Given the description of an element on the screen output the (x, y) to click on. 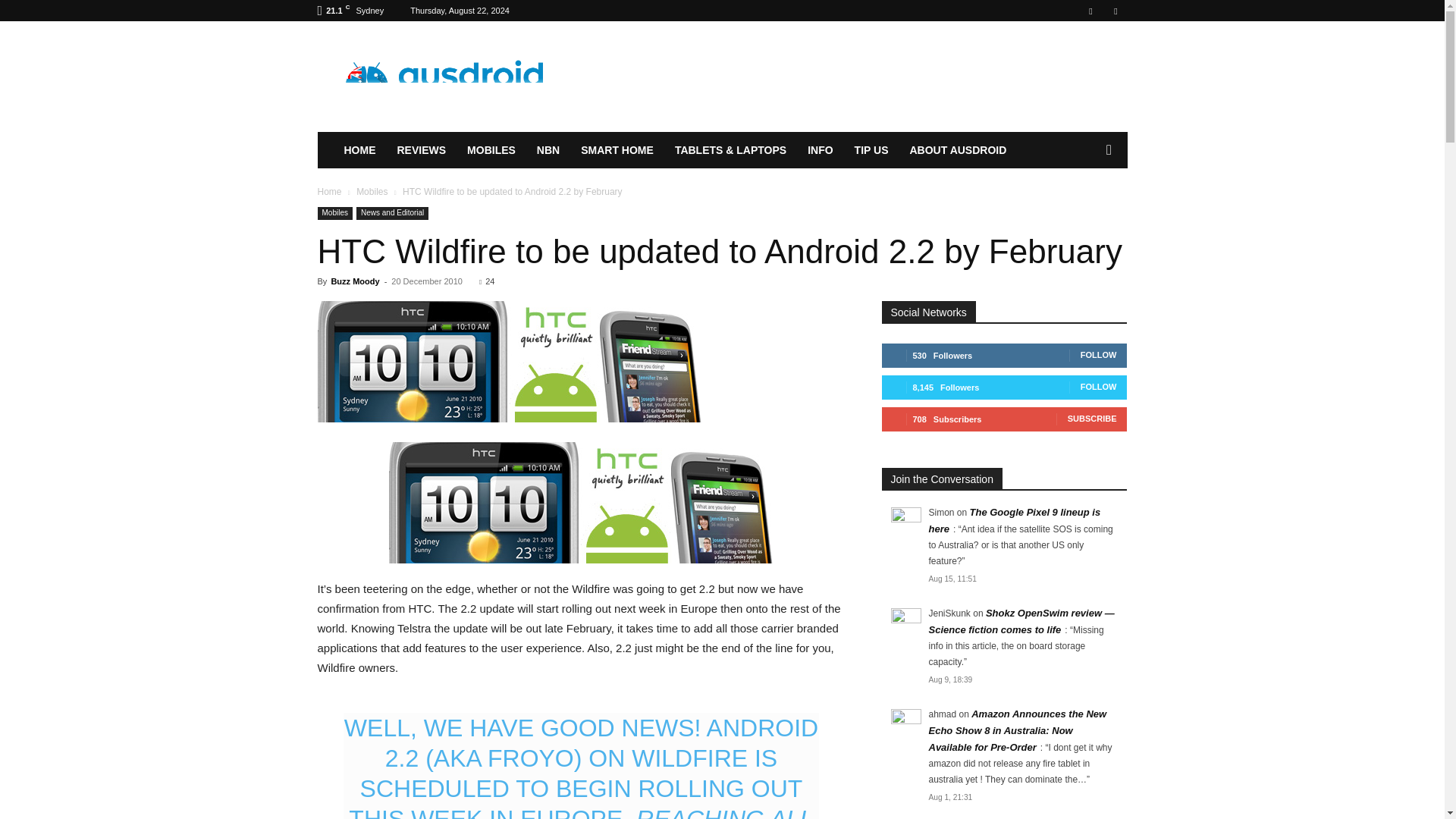
HOME (360, 149)
HTC Wildfire (509, 361)
HTC Wildfire - First prepaid smartphone on Telstra (580, 502)
Telegram (1090, 10)
Twitter (1114, 10)
SMART HOME (616, 149)
MOBILES (491, 149)
Ausdroid Logo (445, 76)
NBN (547, 149)
INFO (819, 149)
